Given the description of an element on the screen output the (x, y) to click on. 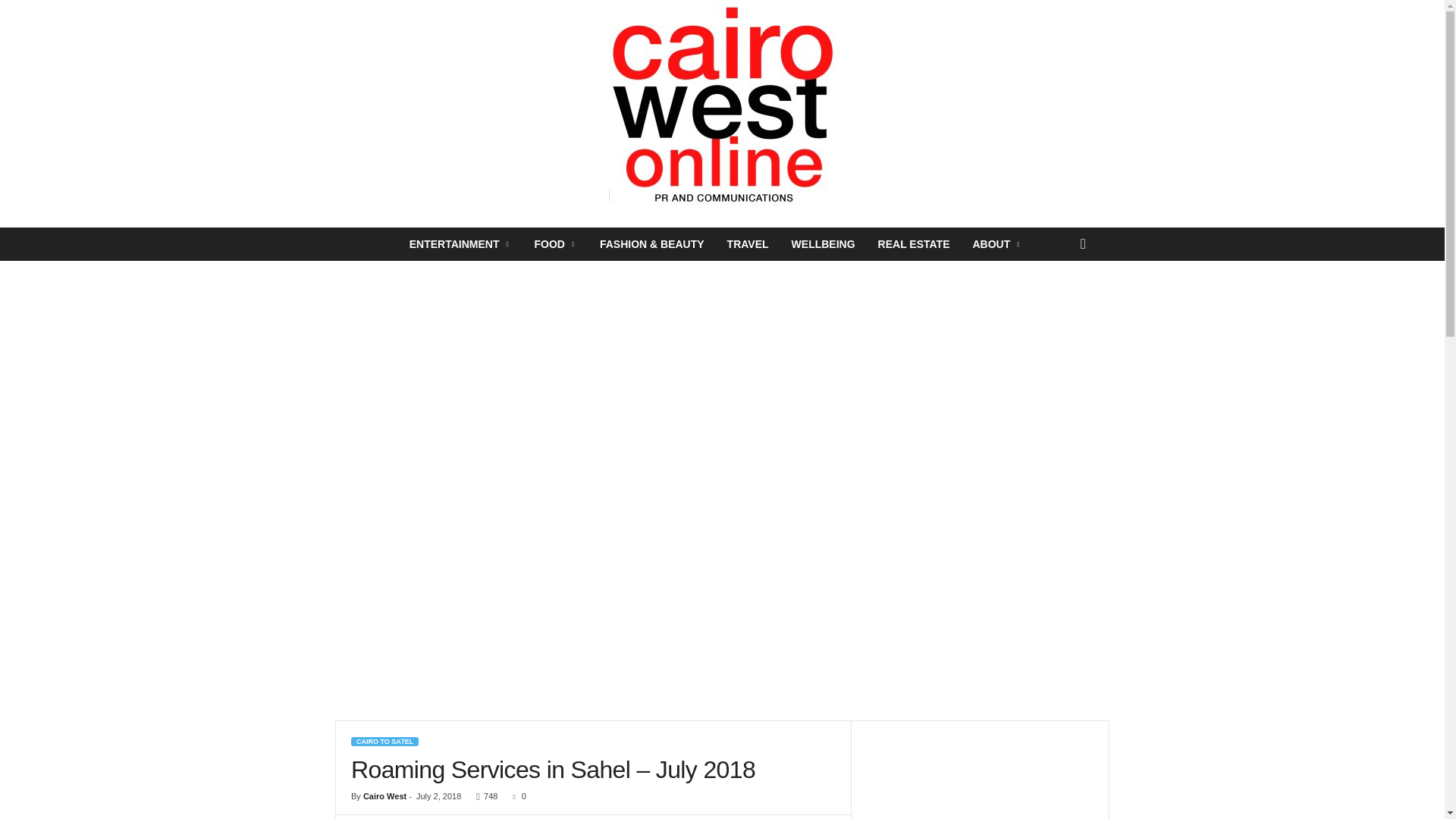
ENTERTAINMENT (459, 244)
0 (515, 795)
Cairo West (384, 795)
ABOUT (996, 244)
REAL ESTATE (913, 244)
FOOD (555, 244)
CAIRO TO SA7EL (384, 741)
WELLBEING (823, 244)
TRAVEL (748, 244)
